Given the description of an element on the screen output the (x, y) to click on. 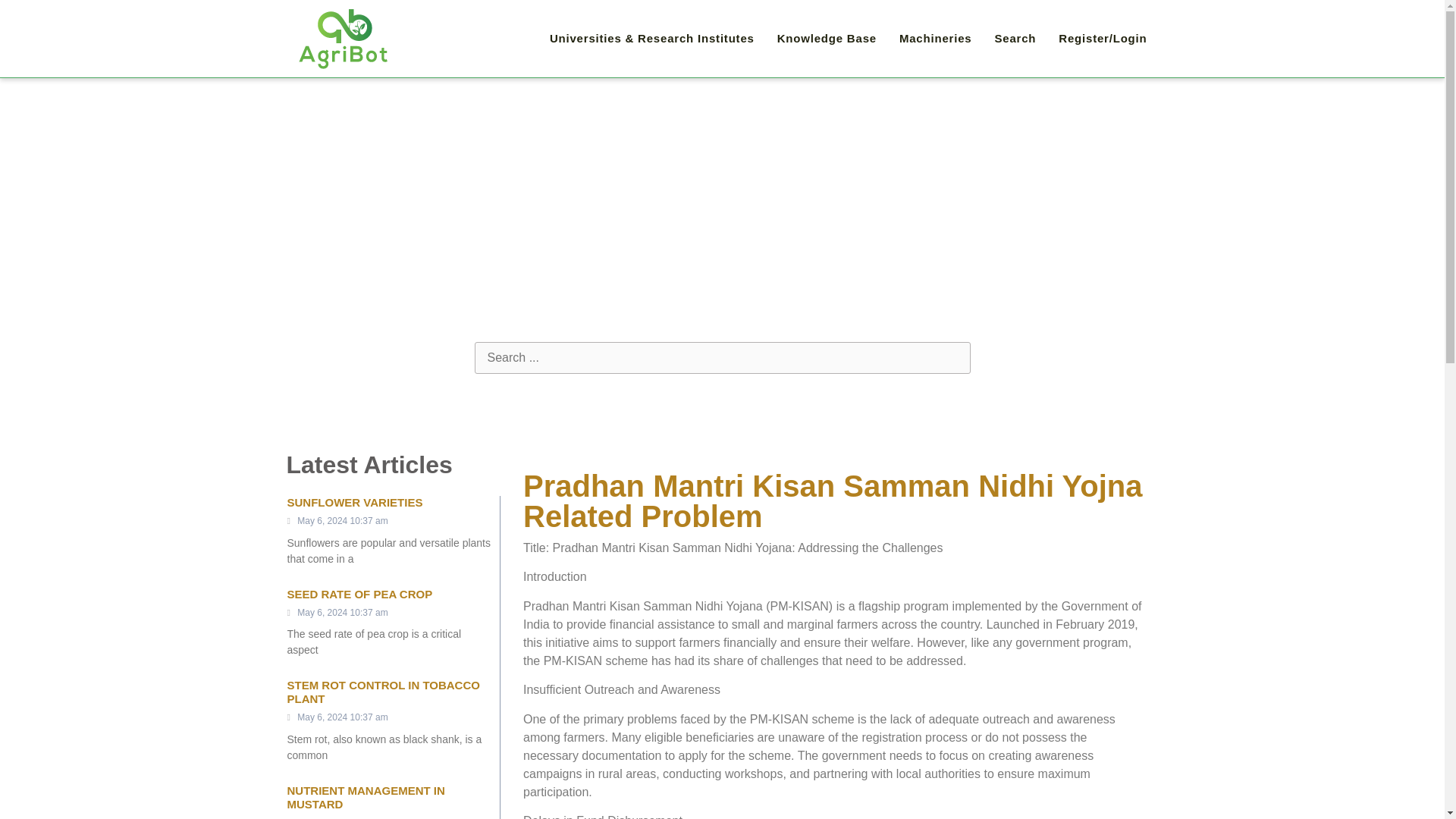
SEED RATE OF PEA CROP (359, 594)
Machineries (935, 38)
STEM ROT CONTROL IN TOBACCO PLANT (382, 691)
SUNFLOWER VARIETIES (354, 502)
NUTRIENT MANAGEMENT IN MUSTARD (365, 796)
Knowledge Base (826, 38)
